Given the description of an element on the screen output the (x, y) to click on. 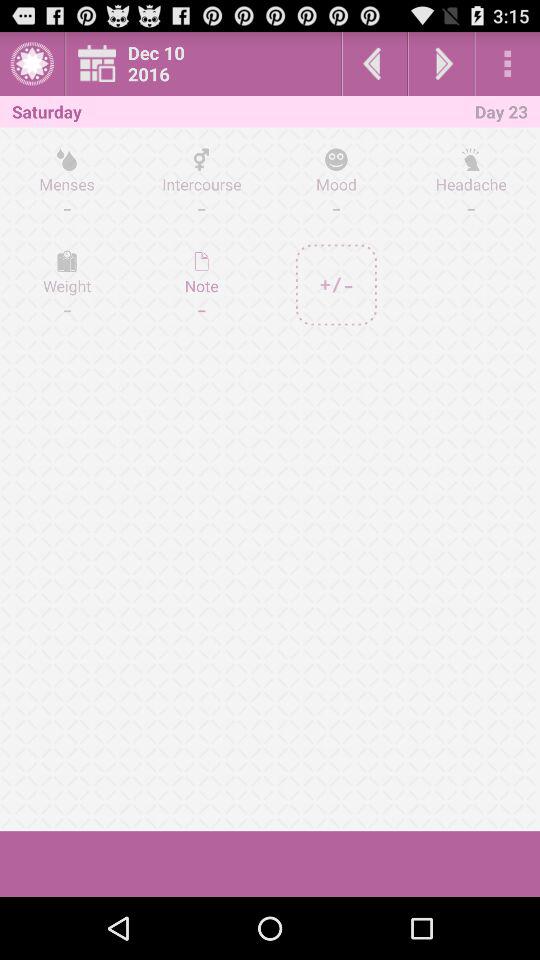
previous day (374, 63)
